Given the description of an element on the screen output the (x, y) to click on. 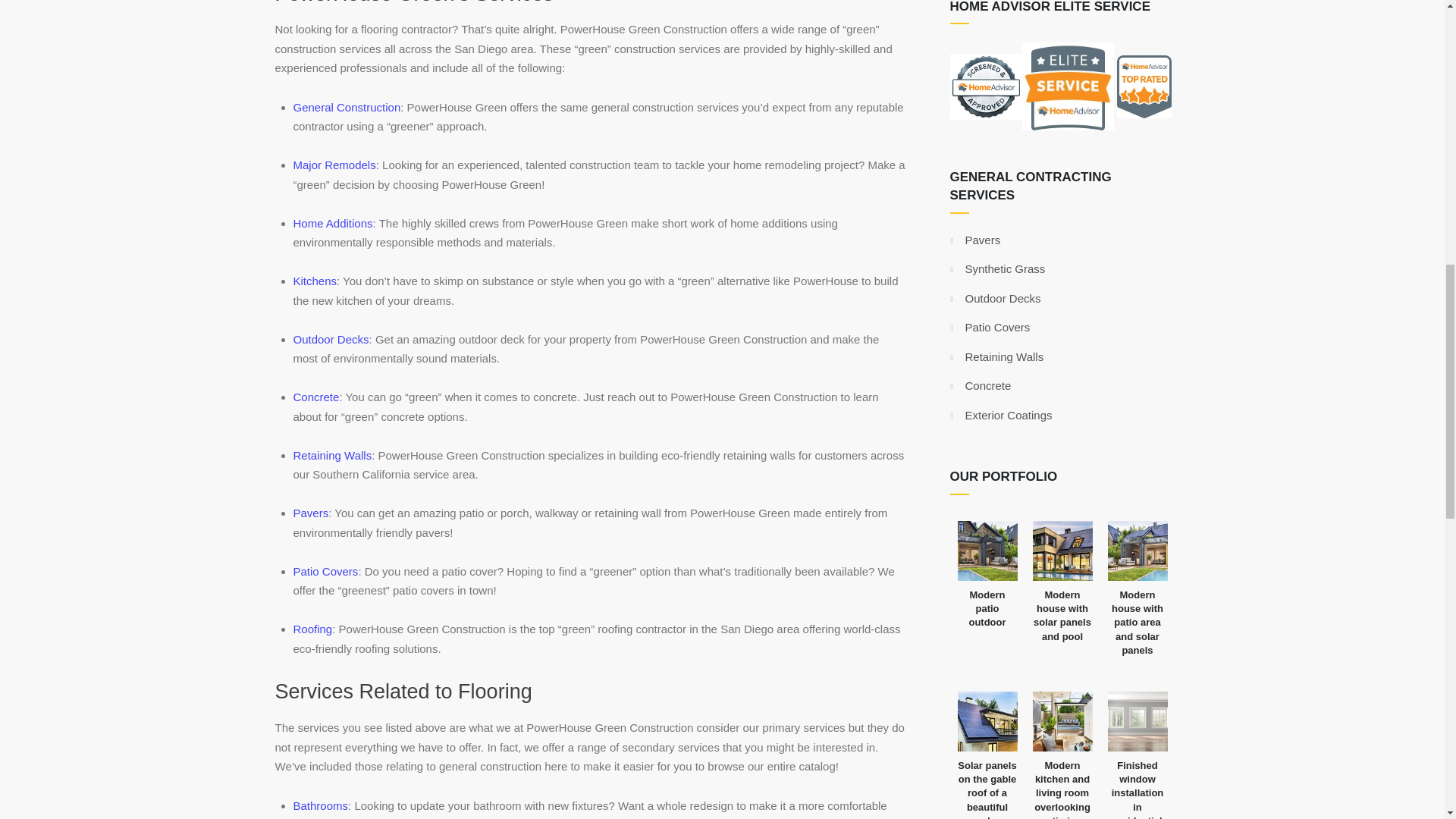
General Construction (346, 106)
Major Remodels (333, 164)
Home Additions (332, 223)
Kitchens (314, 280)
